Given the description of an element on the screen output the (x, y) to click on. 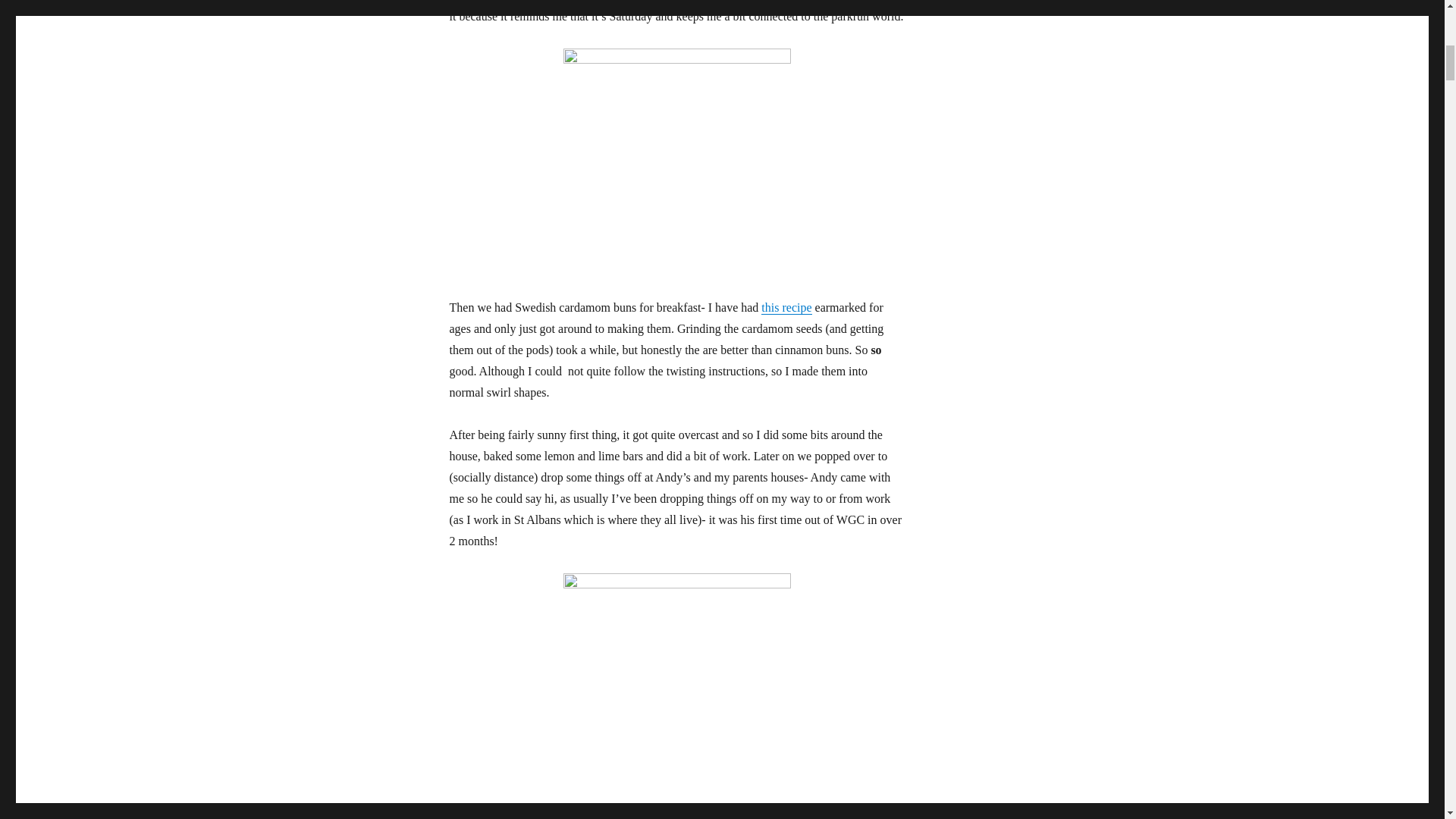
this recipe (785, 307)
